Given the description of an element on the screen output the (x, y) to click on. 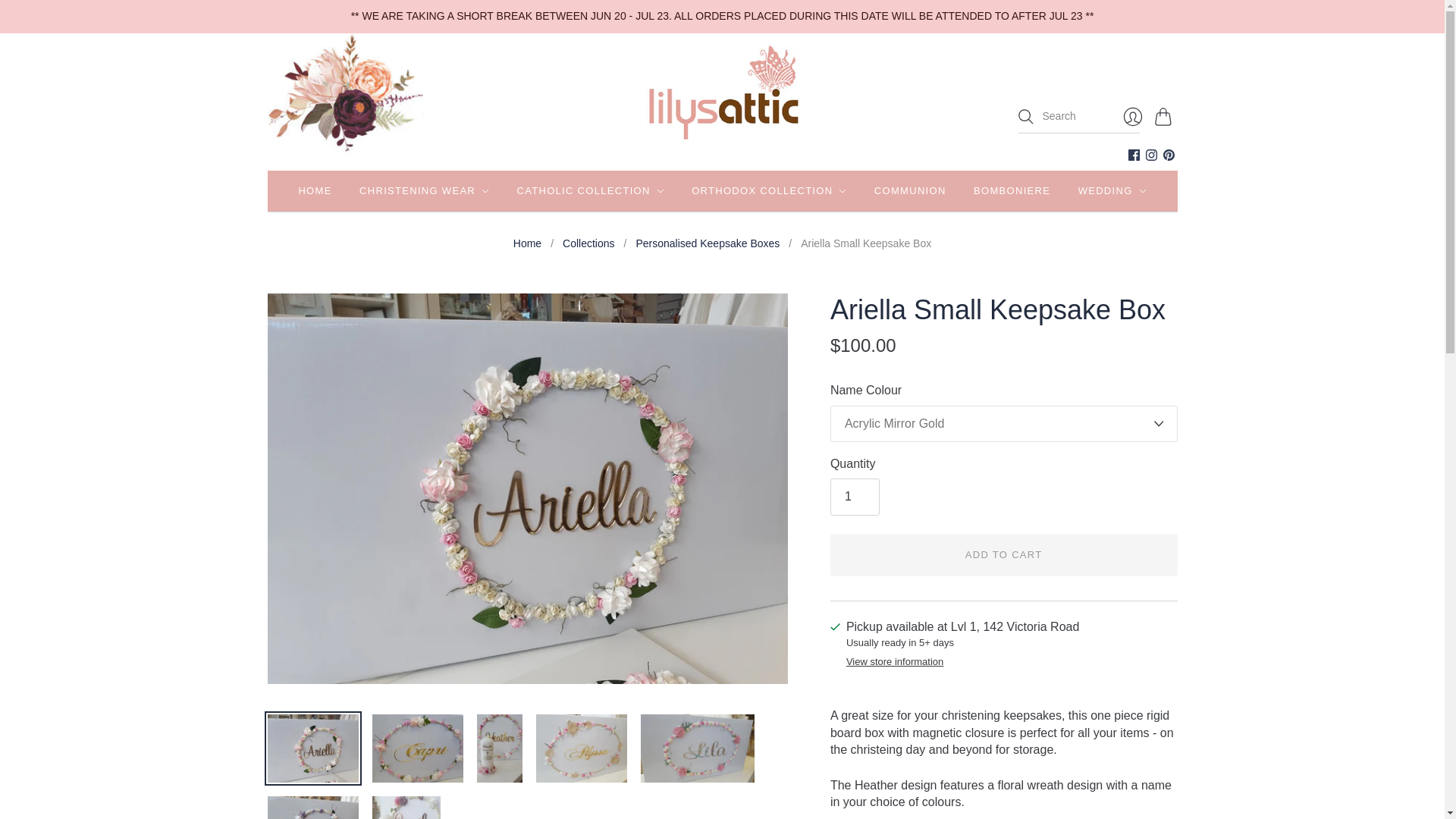
ORTHODOX COLLECTION (768, 190)
CHRISTENING WEAR (424, 190)
1 (854, 496)
BOMBONIERE (1011, 190)
Cart (1165, 116)
HOME (314, 190)
CATHOLIC COLLECTION (589, 190)
Login (1132, 116)
WEDDING (1112, 190)
COMMUNION (910, 190)
